Given the description of an element on the screen output the (x, y) to click on. 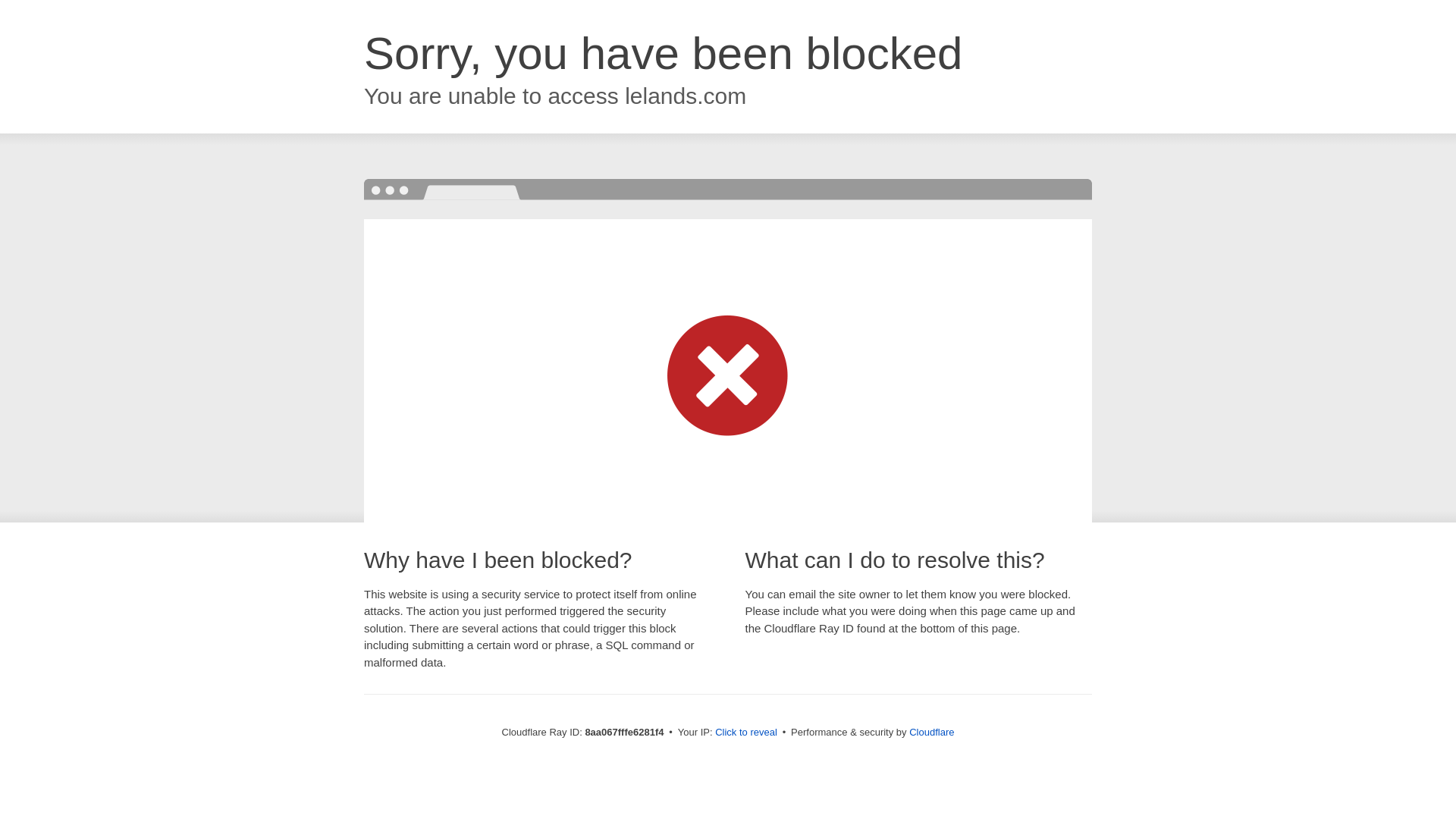
Cloudflare (930, 731)
Click to reveal (745, 732)
